Given the description of an element on the screen output the (x, y) to click on. 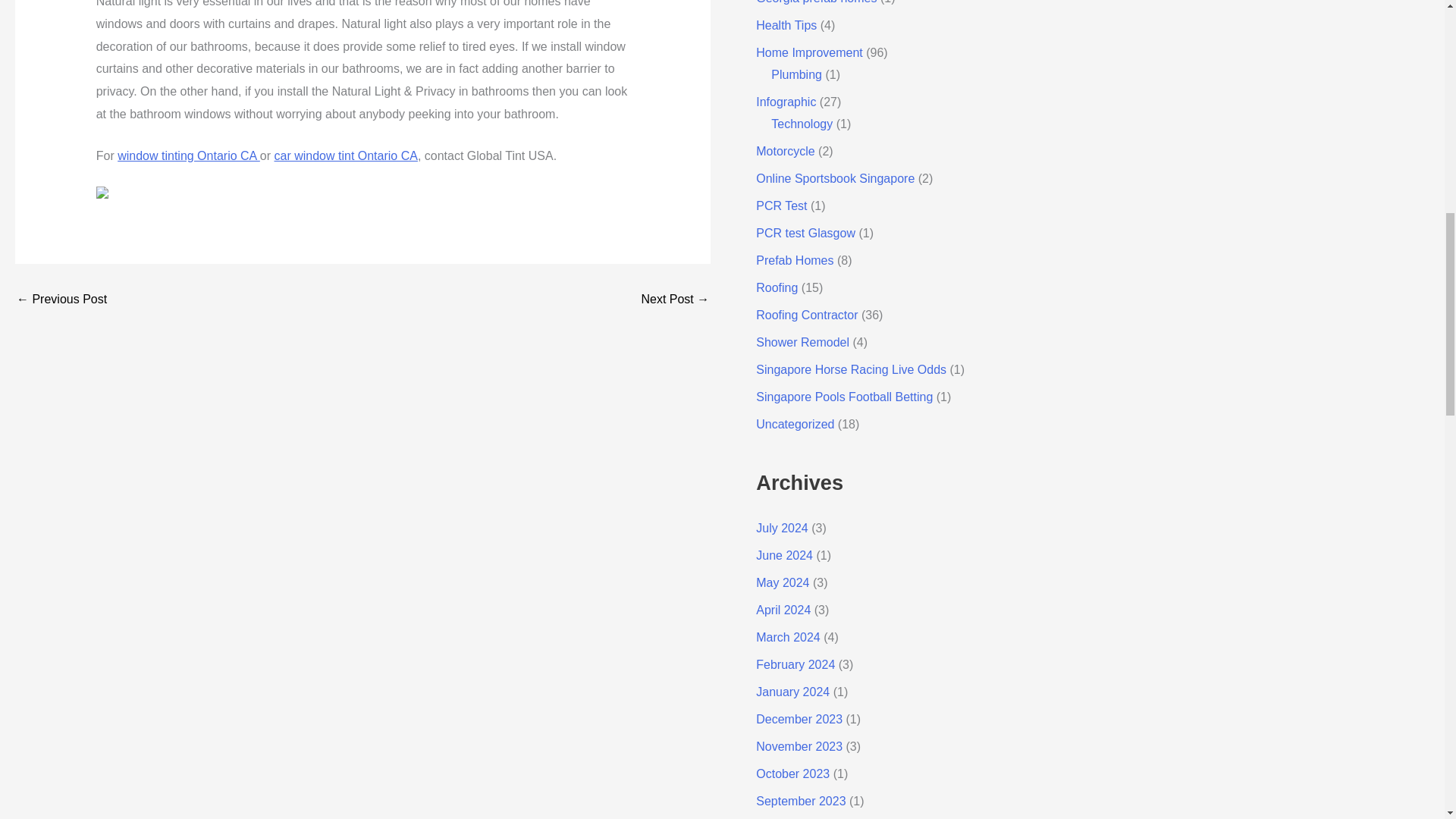
The Unexpected Costs of DIY Roofing (674, 299)
window tinting Ontario CA (188, 155)
car window tint Ontario CA (346, 155)
